Given the description of an element on the screen output the (x, y) to click on. 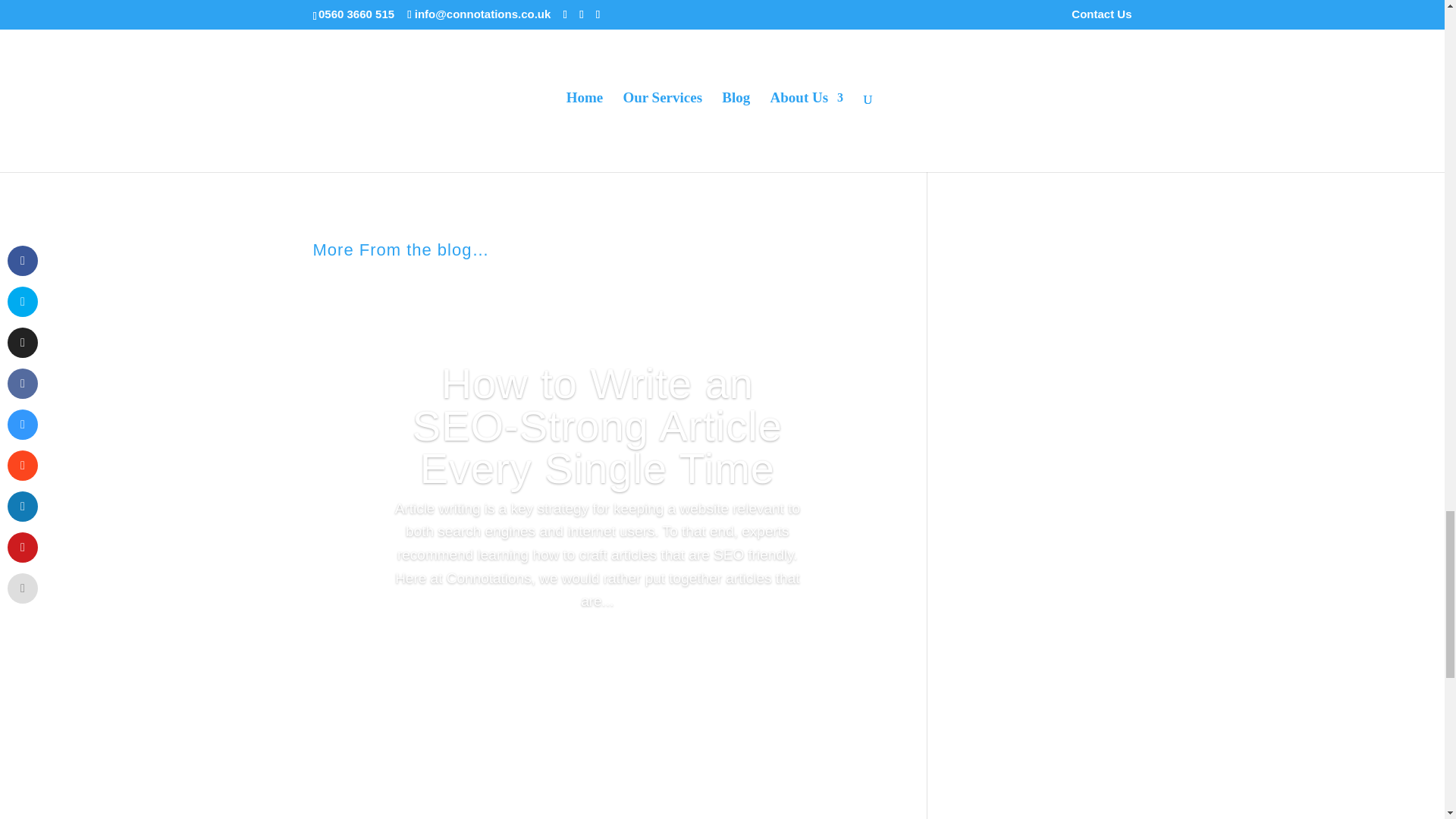
Click here for all our services (596, 85)
How to Write an SEO-Strong Article Every Single Time (597, 425)
Read More (596, 654)
